Given the description of an element on the screen output the (x, y) to click on. 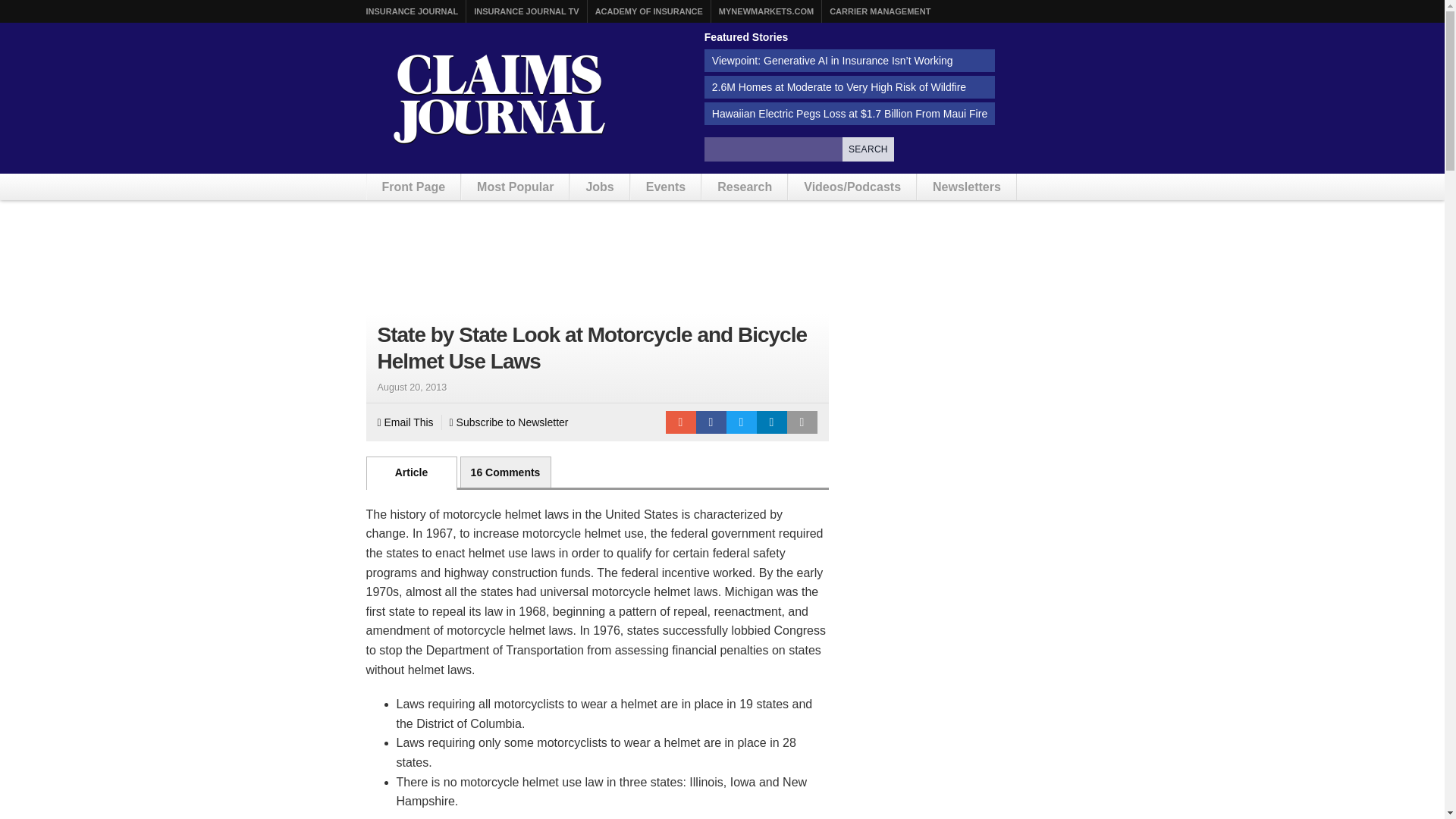
Post to Facebook. (710, 422)
2.6M Homes at Moderate to Very High Risk of Wildfire (849, 87)
CARRIER MANAGEMENT (879, 11)
ACADEMY OF INSURANCE (649, 11)
INSURANCE JOURNAL (411, 11)
Events (665, 186)
Share on Twitter. (741, 422)
Email to a friend (680, 422)
INSURANCE JOURNAL TV (526, 11)
Article (411, 472)
